Given the description of an element on the screen output the (x, y) to click on. 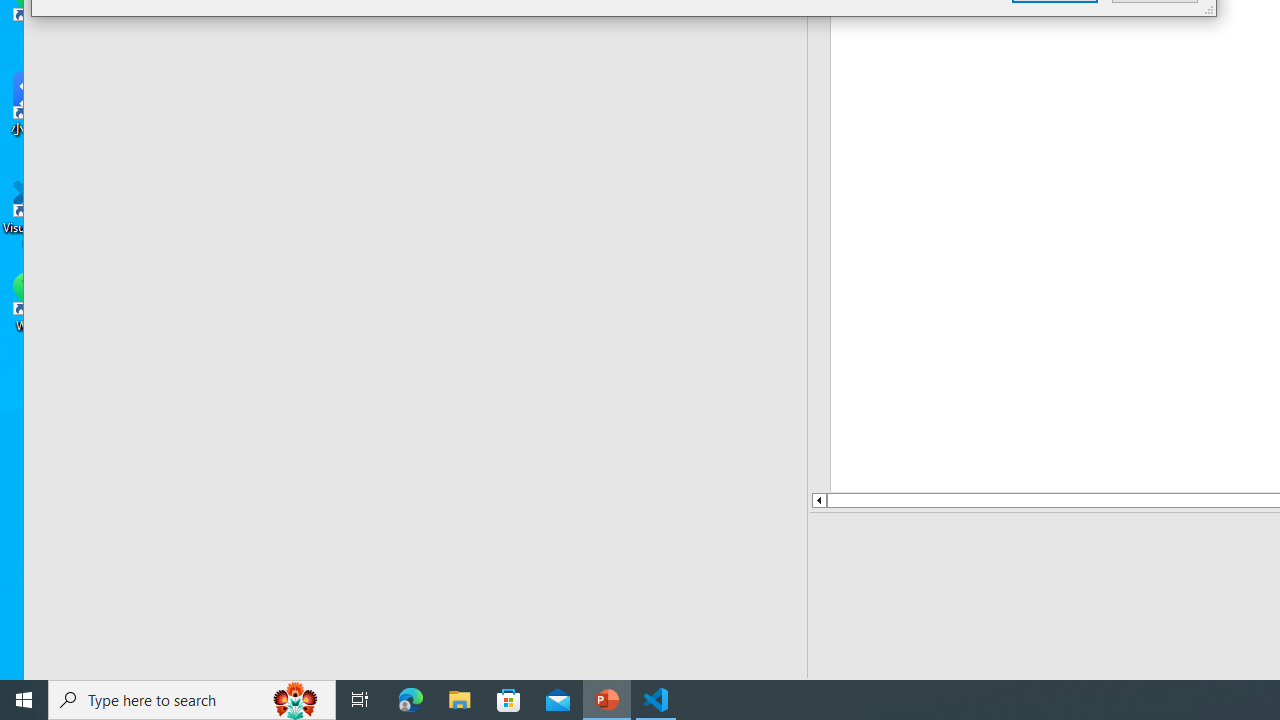
File Explorer (460, 699)
Visual Studio Code - 1 running window (656, 699)
Start (24, 699)
PowerPoint - 1 running window (607, 699)
Type here to search (191, 699)
Microsoft Edge (411, 699)
Search highlights icon opens search home window (295, 699)
Task View (359, 699)
Microsoft Store (509, 699)
